Given the description of an element on the screen output the (x, y) to click on. 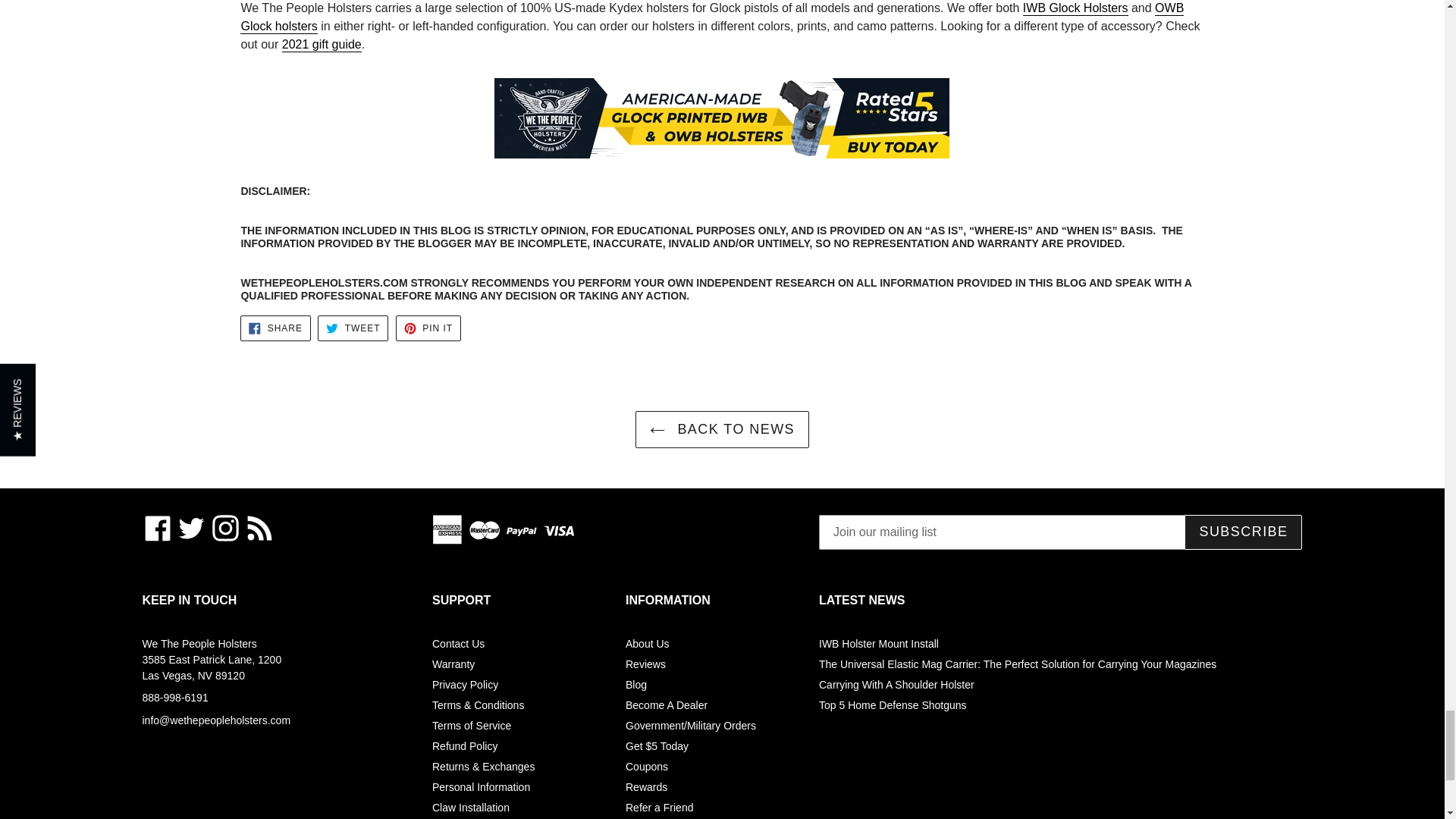
wethepeopleholsters.com on Facebook (157, 528)
Share on Facebook (275, 328)
Pin on Pinterest (428, 328)
wethepeopleholsters.com on Instagram (225, 528)
Glock holster (722, 125)
wethepeopleholsters.com on Twitter (191, 528)
Tweet on Twitter (352, 328)
